Given the description of an element on the screen output the (x, y) to click on. 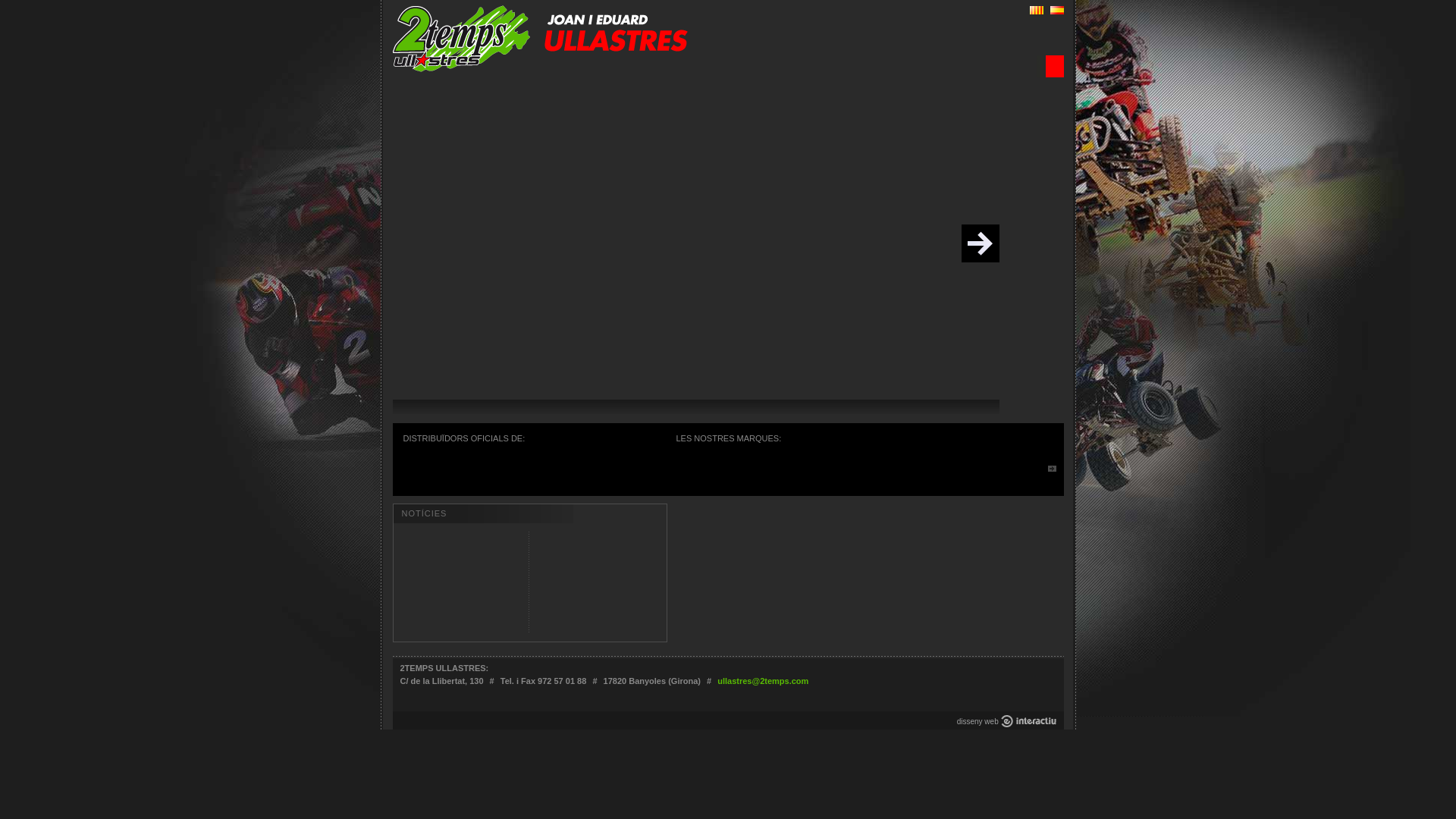
disseny web Element type: text (977, 721)
ullastres@2temps.com Element type: text (762, 680)
  Element type: text (980, 243)
